Given the description of an element on the screen output the (x, y) to click on. 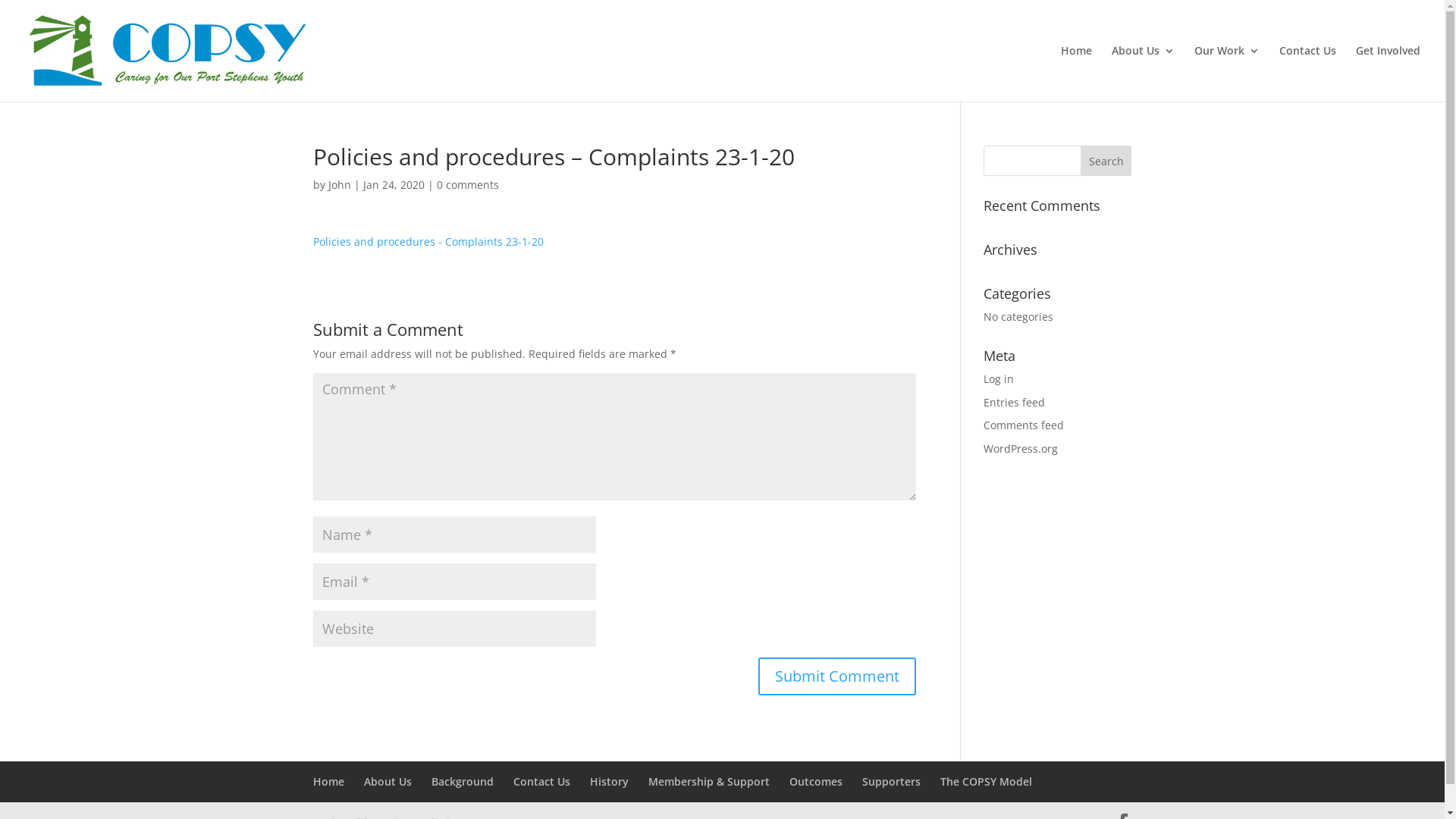
The COPSY Model Element type: text (986, 781)
Search Element type: text (1106, 160)
Membership & Support Element type: text (707, 781)
Outcomes Element type: text (814, 781)
History Element type: text (608, 781)
Policies and procedures - Complaints 23-1-20 Element type: text (427, 241)
Contact Us Element type: text (540, 781)
About Us Element type: text (1142, 73)
Our Work Element type: text (1226, 73)
Home Element type: text (327, 781)
Supporters Element type: text (890, 781)
Comments feed Element type: text (1023, 424)
Get Involved Element type: text (1387, 73)
0 comments Element type: text (467, 184)
About Us Element type: text (387, 781)
Log in Element type: text (998, 378)
WordPress.org Element type: text (1020, 448)
Contact Us Element type: text (1307, 73)
Background Element type: text (461, 781)
Submit Comment Element type: text (837, 676)
Entries feed Element type: text (1013, 402)
Home Element type: text (1076, 73)
John Element type: text (338, 184)
